Given the description of an element on the screen output the (x, y) to click on. 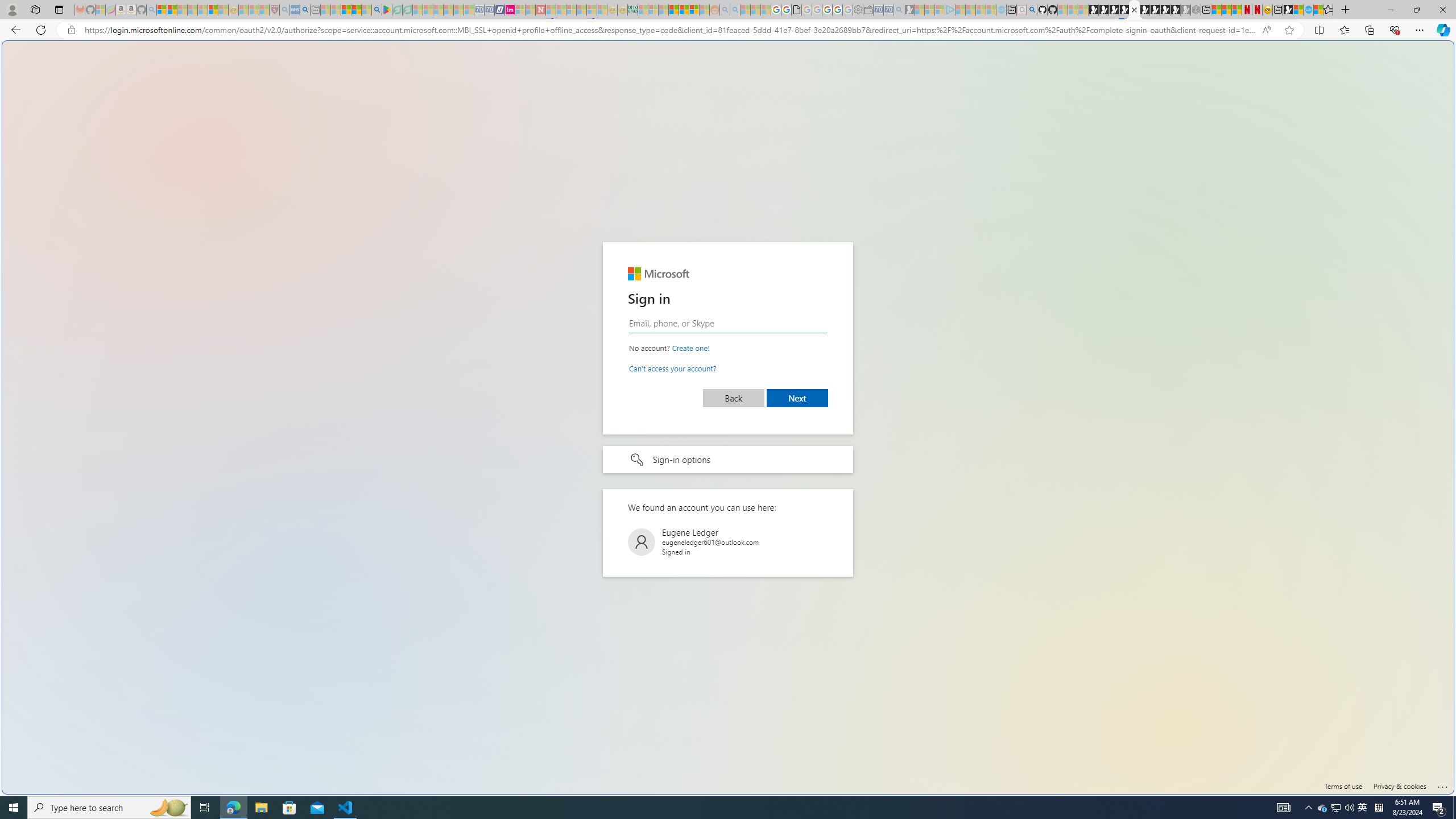
Organization background image (727, 416)
